Given the description of an element on the screen output the (x, y) to click on. 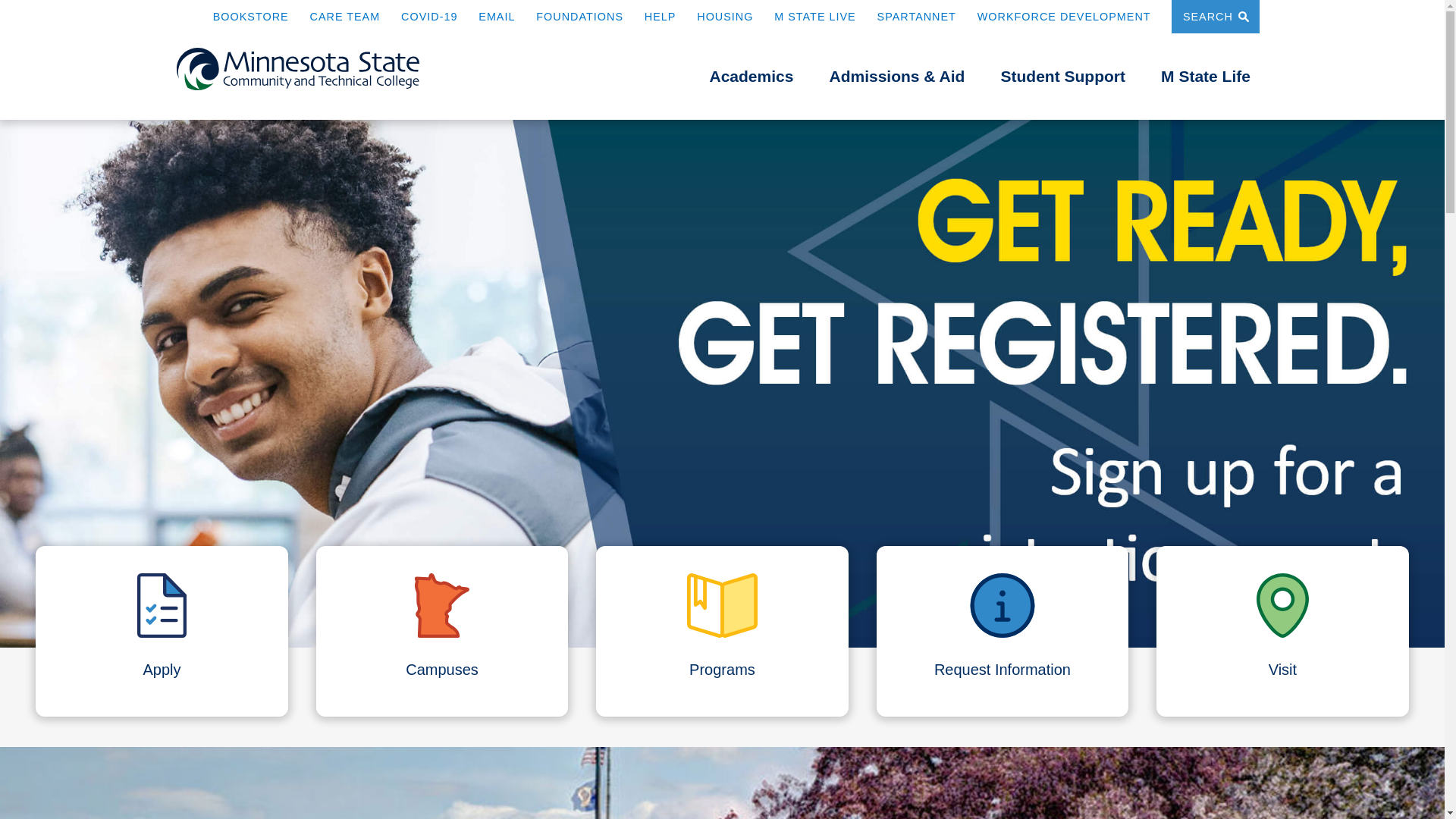
HOUSING (724, 15)
BOOKSTORE (250, 15)
FOUNDATIONS (579, 15)
SEARCH (1215, 16)
COVID-19 (429, 15)
SPARTANNET (916, 15)
M STATE LIVE (815, 15)
WORKFORCE DEVELOPMENT (1063, 15)
Academics (751, 76)
CARE TEAM (345, 15)
M State LIVE Streaming Sports and Events (815, 15)
HELP (661, 15)
EMAIL (497, 15)
